Given the description of an element on the screen output the (x, y) to click on. 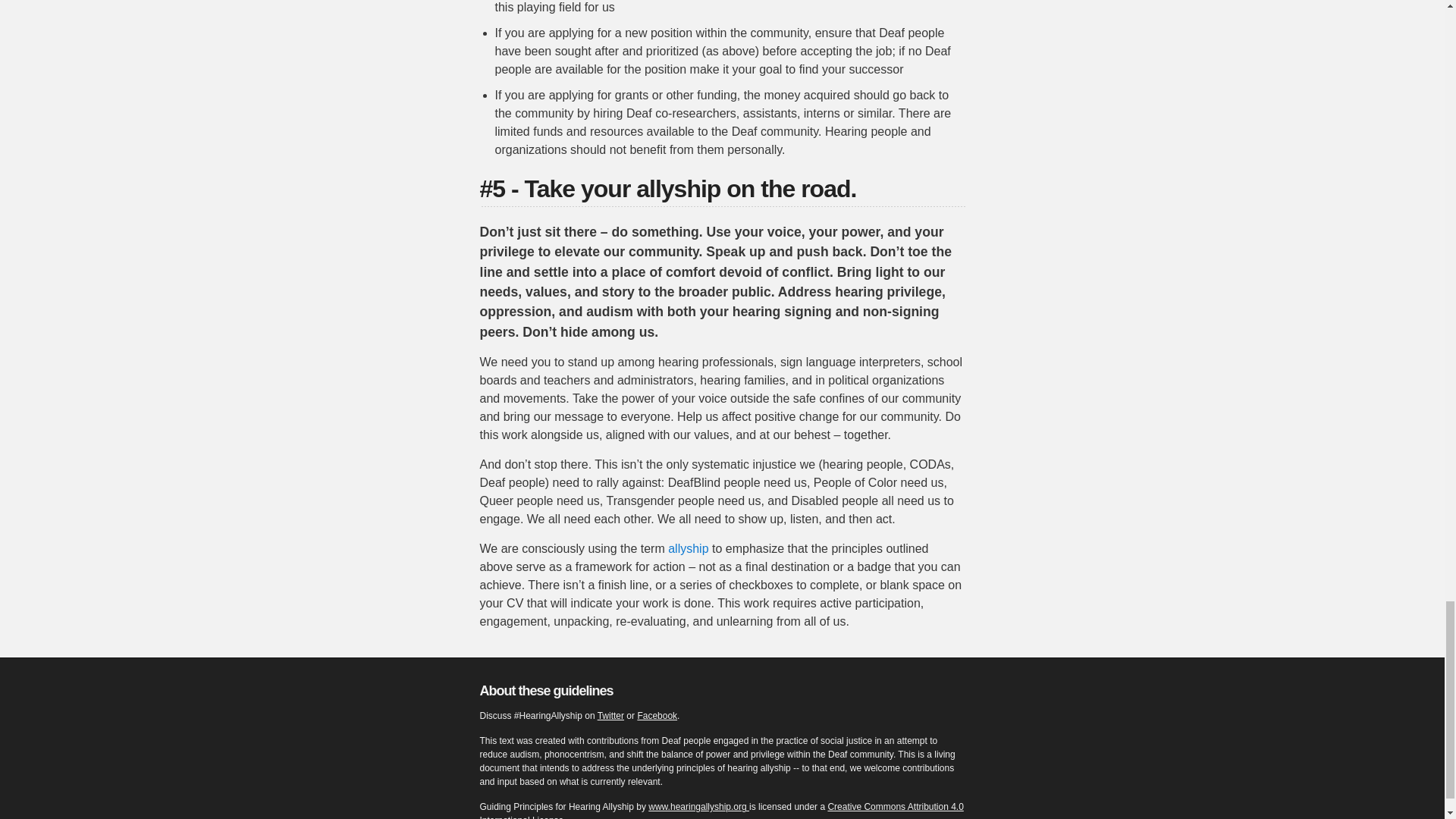
Facebook (657, 715)
allyship (687, 548)
Twitter (610, 715)
www.hearingallyship.org (698, 806)
Creative Commons Attribution 4.0 International License (720, 810)
